Given the description of an element on the screen output the (x, y) to click on. 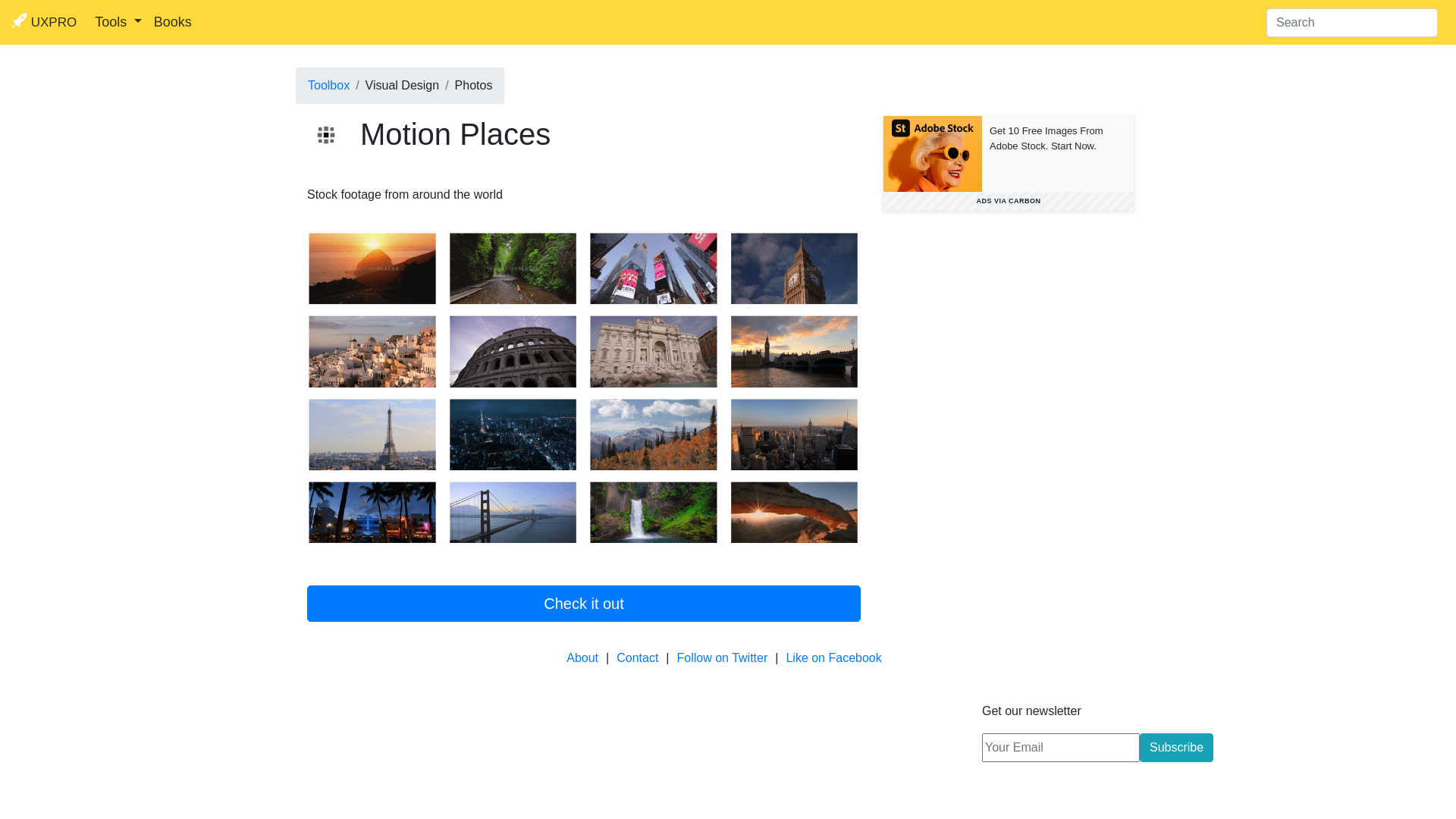
Subscribe Element type: text (1176, 747)
Contact Element type: text (637, 657)
ADS VIA CARBON Element type: text (1008, 200)
About Element type: text (582, 657)
Like on Facebook Element type: text (833, 657)
Tools Element type: text (117, 22)
Toolbox Element type: text (328, 84)
Follow on Twitter Element type: text (722, 657)
Get 10 Free Images From Adobe Stock. Start Now. Element type: text (1057, 153)
Check it out Element type: text (583, 603)
UXPRO Element type: text (44, 22)
Books Element type: text (172, 22)
